Given the description of an element on the screen output the (x, y) to click on. 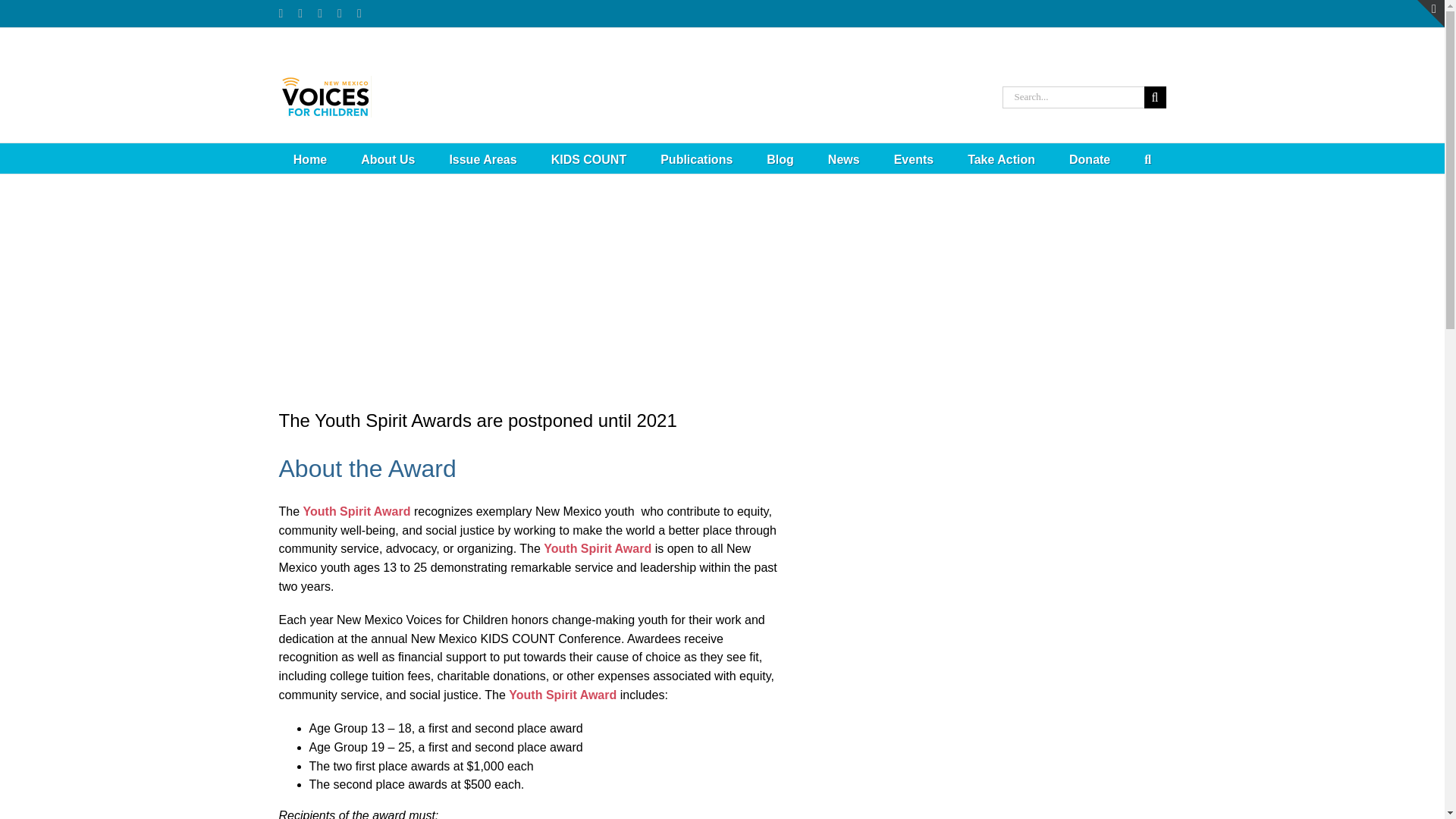
About Us (387, 158)
Facebook (300, 13)
KIDS COUNT (589, 158)
Publications (696, 158)
Facebook (300, 13)
Issue Areas (482, 158)
Twitter (339, 13)
Search (1147, 158)
Twitter (339, 13)
Instagram (281, 13)
Flickr (319, 13)
Flickr (319, 13)
YouTube (358, 13)
Instagram (281, 13)
Home (310, 158)
